Given the description of an element on the screen output the (x, y) to click on. 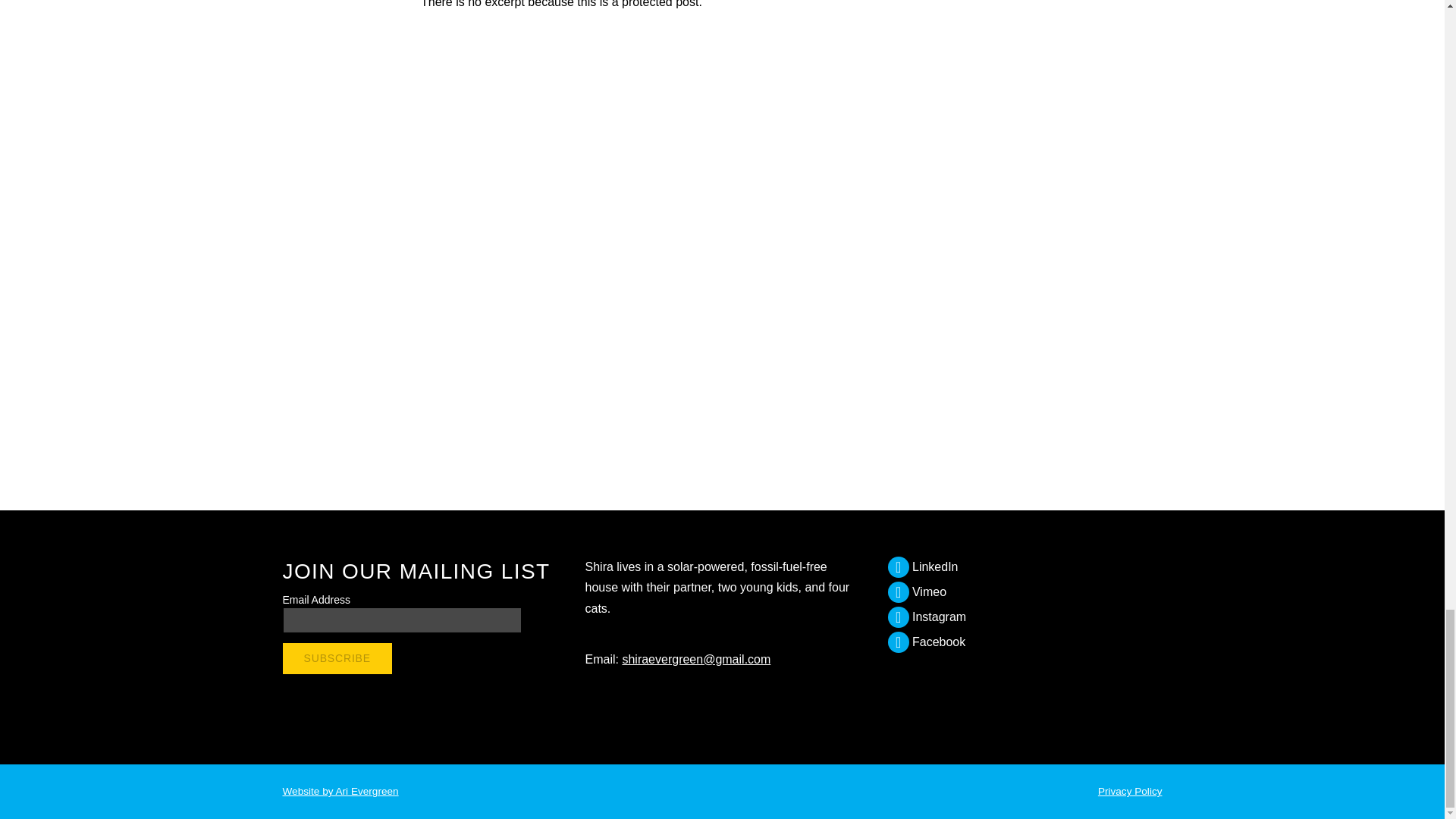
Subscribe (336, 658)
